Given the description of an element on the screen output the (x, y) to click on. 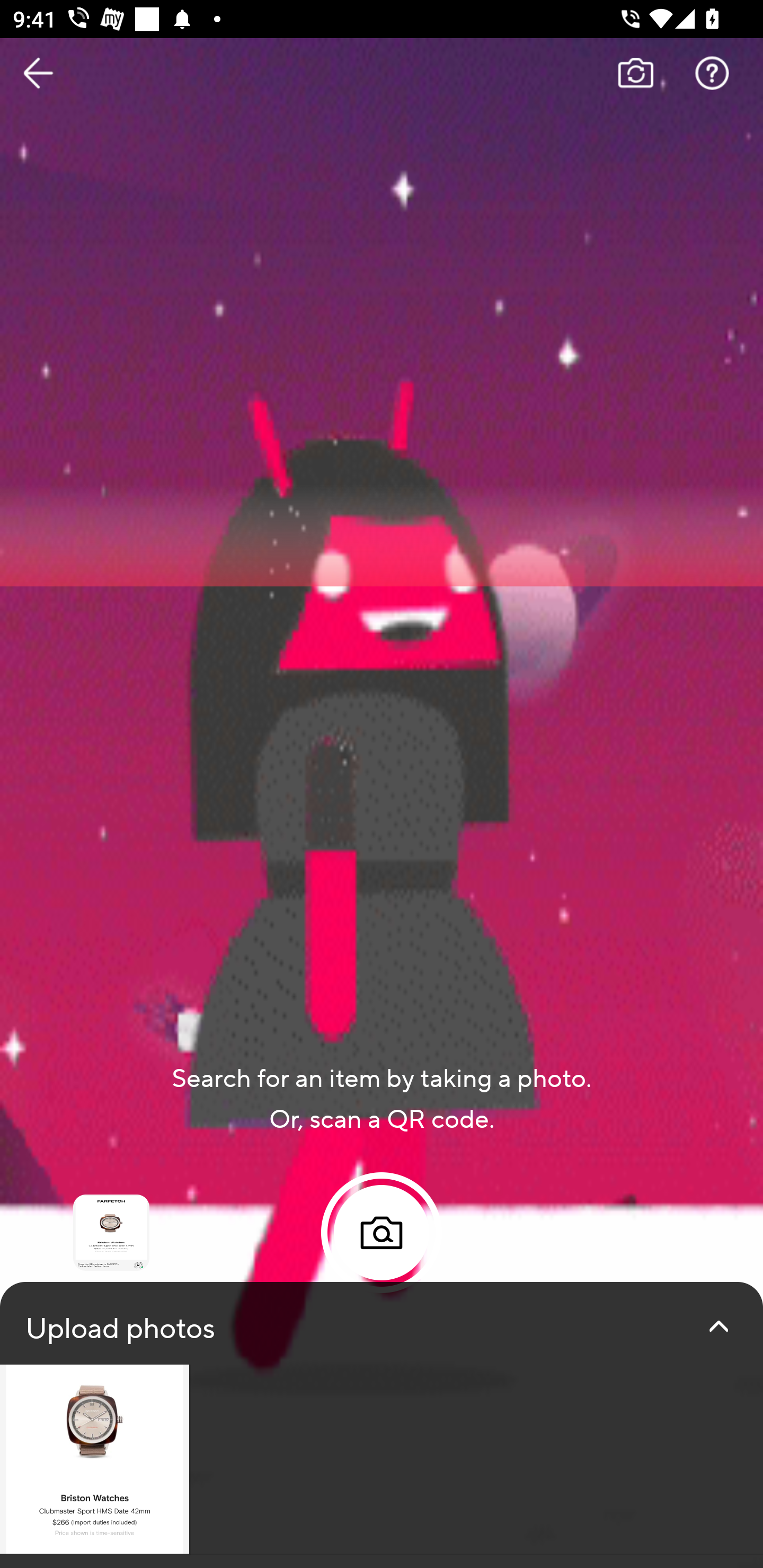
Upload photos  (381, 1425)
 (718, 1326)
